Given the description of an element on the screen output the (x, y) to click on. 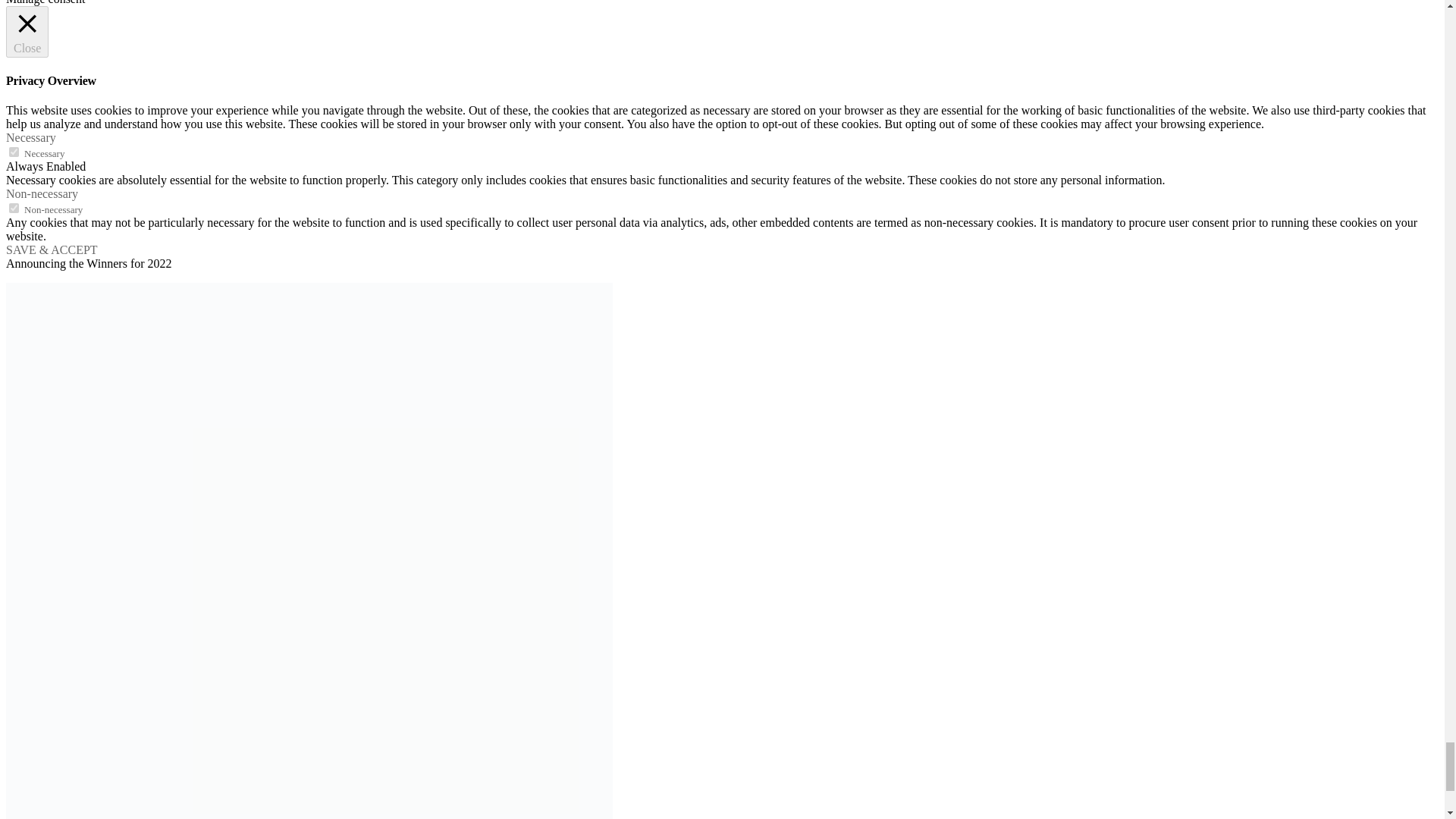
on (13, 207)
on (13, 152)
